Given the description of an element on the screen output the (x, y) to click on. 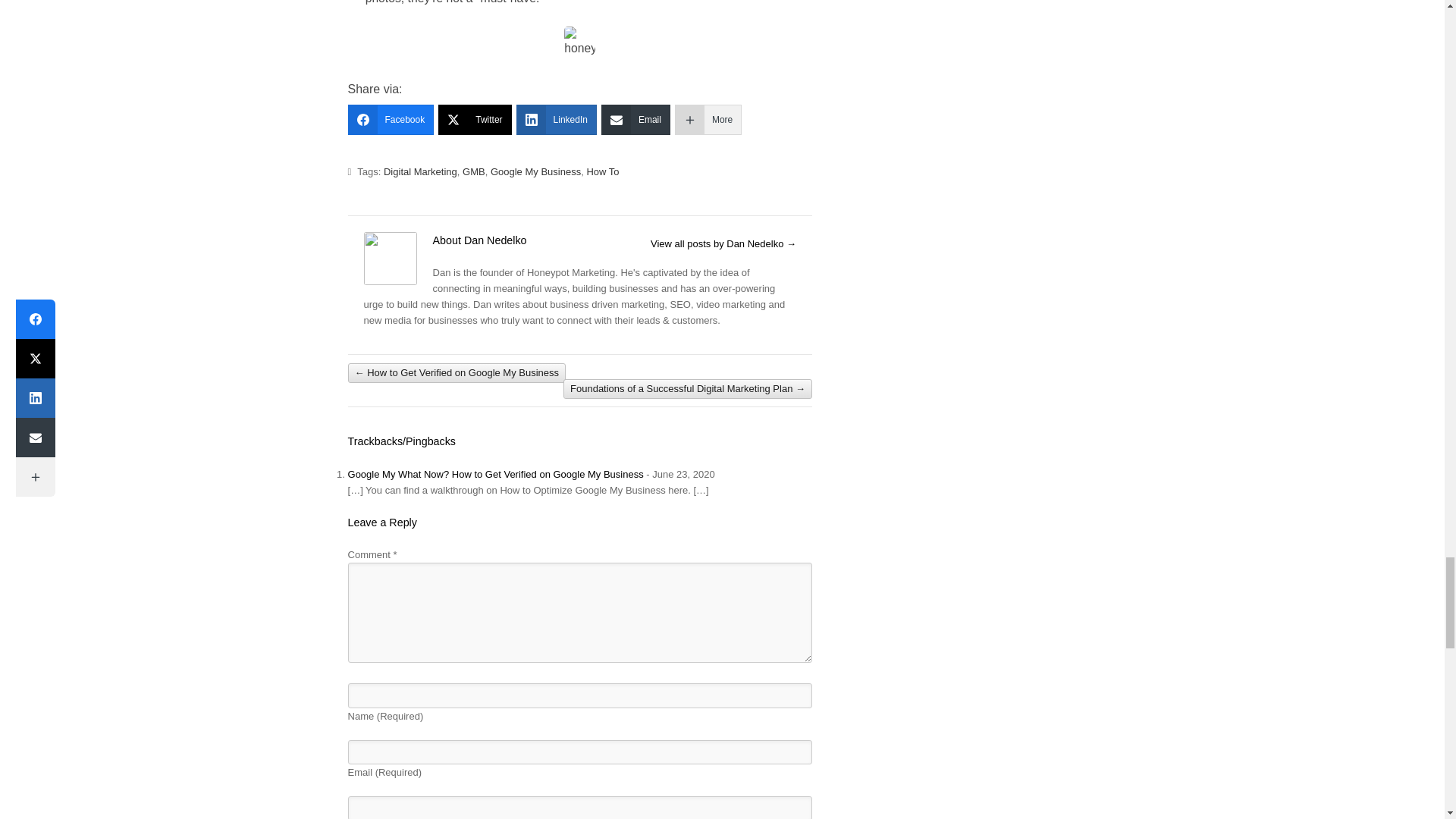
Facebook (390, 119)
Twitter (474, 119)
